Given the description of an element on the screen output the (x, y) to click on. 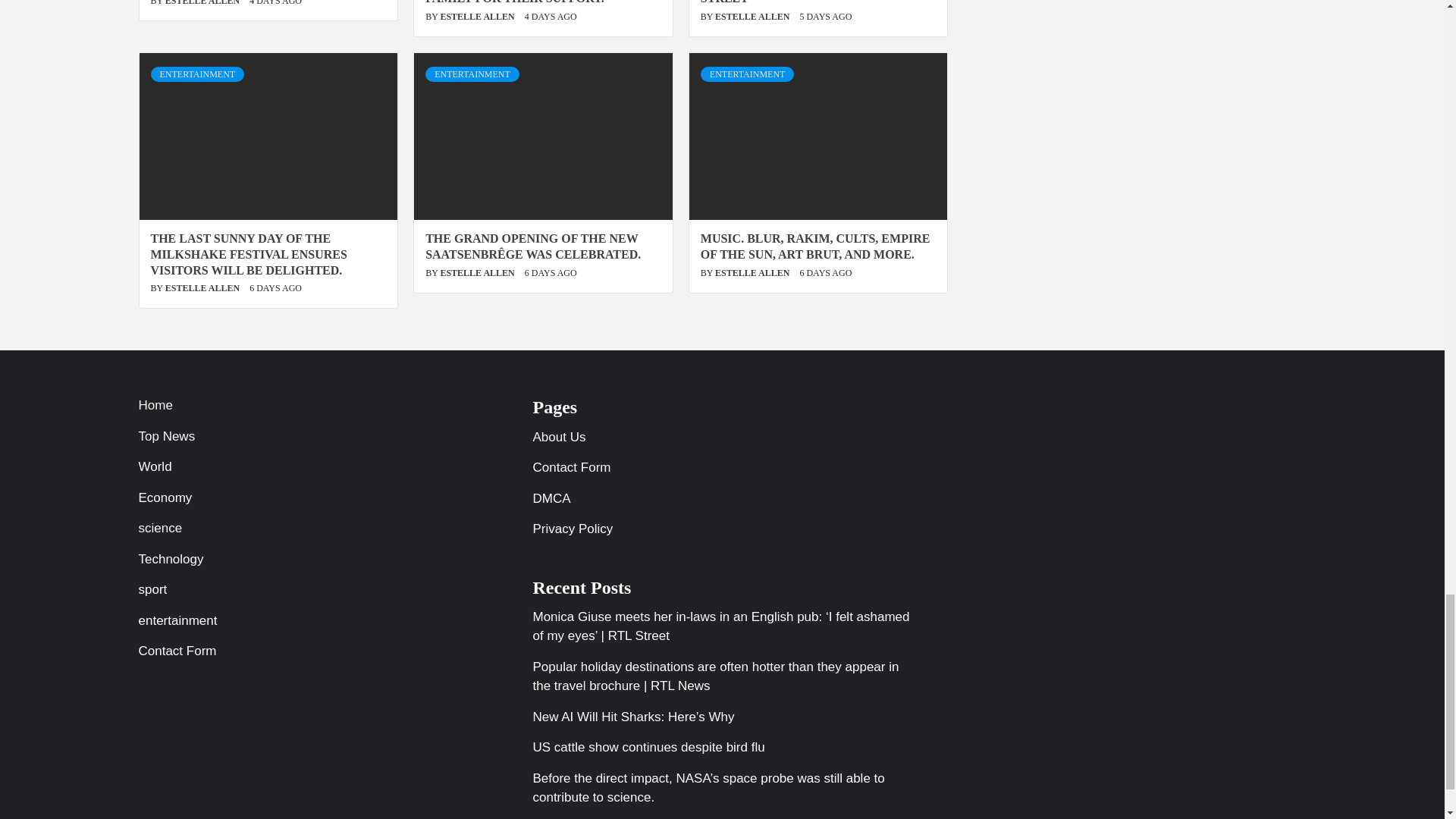
ESTELLE ALLEN (203, 2)
ESTELLE ALLEN (753, 16)
ESTELLE ALLEN (477, 16)
ESTELLE ALLEN (203, 287)
ENTERTAINMENT (196, 73)
